Given the description of an element on the screen output the (x, y) to click on. 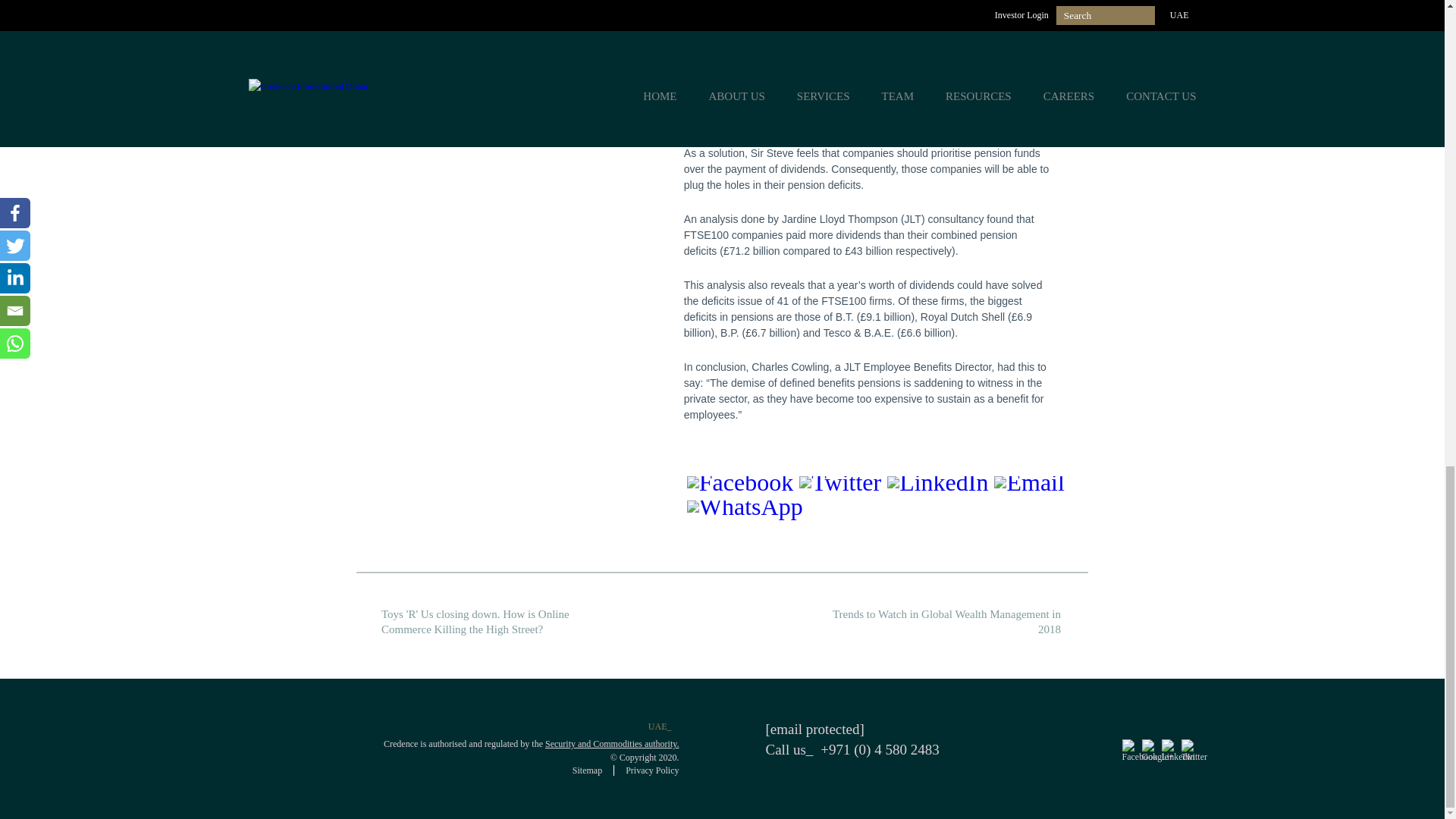
Email (949, 512)
WhatsApp (1022, 512)
Facebook (724, 512)
Trends to Watch in Global Wealth Management in 2018 (951, 621)
Twitter (802, 512)
LinkedIn (878, 512)
